Given the description of an element on the screen output the (x, y) to click on. 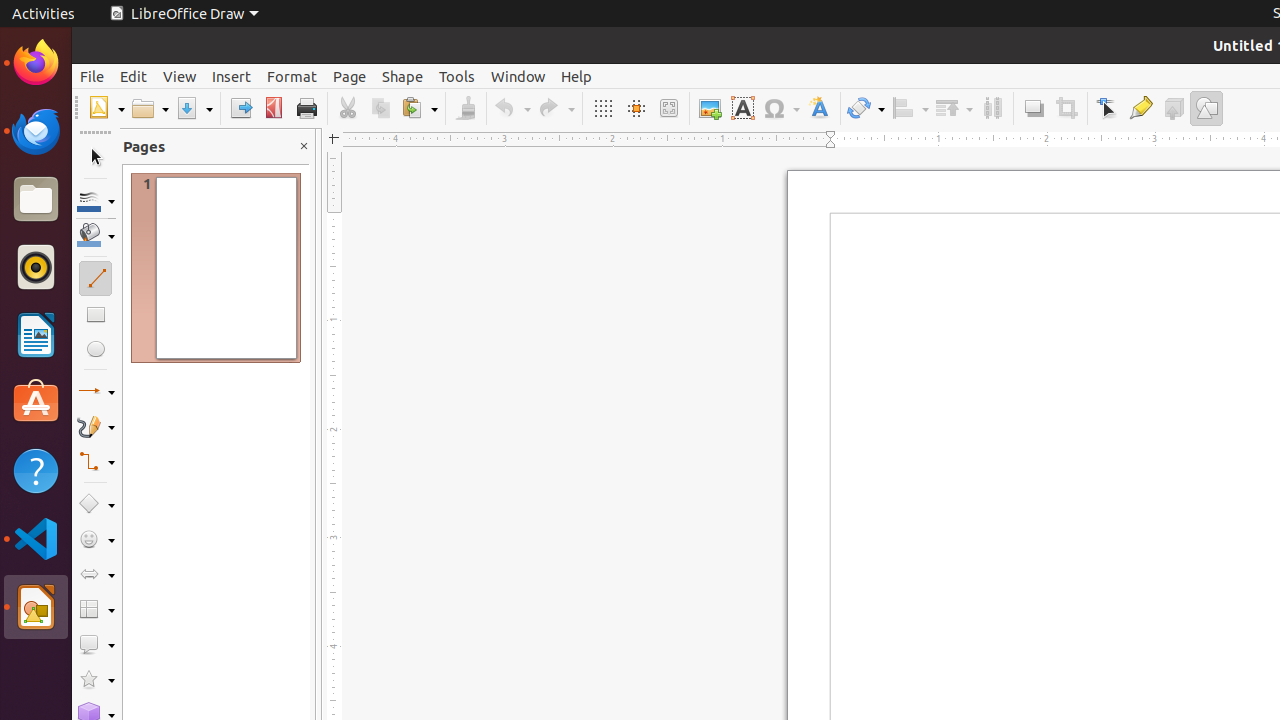
Helplines While Moving Element type: toggle-button (635, 108)
Export Element type: push-button (240, 108)
Paste Element type: push-button (419, 108)
Files Element type: push-button (36, 199)
PDF Element type: push-button (273, 108)
